Given the description of an element on the screen output the (x, y) to click on. 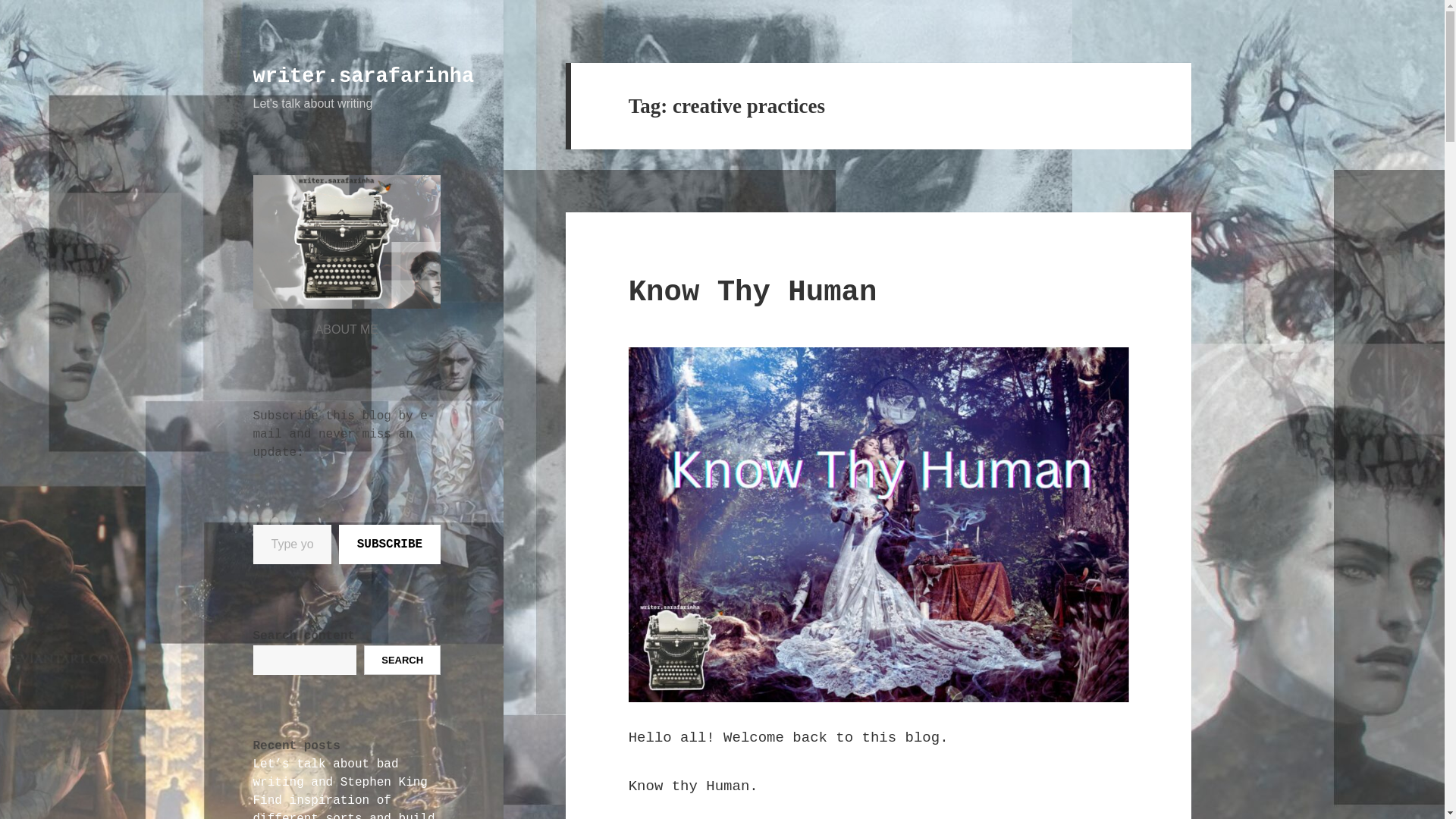
SEARCH (402, 659)
SUBSCRIBE (390, 544)
Know Thy Human (752, 292)
writer.sarafarinha (363, 76)
